Given the description of an element on the screen output the (x, y) to click on. 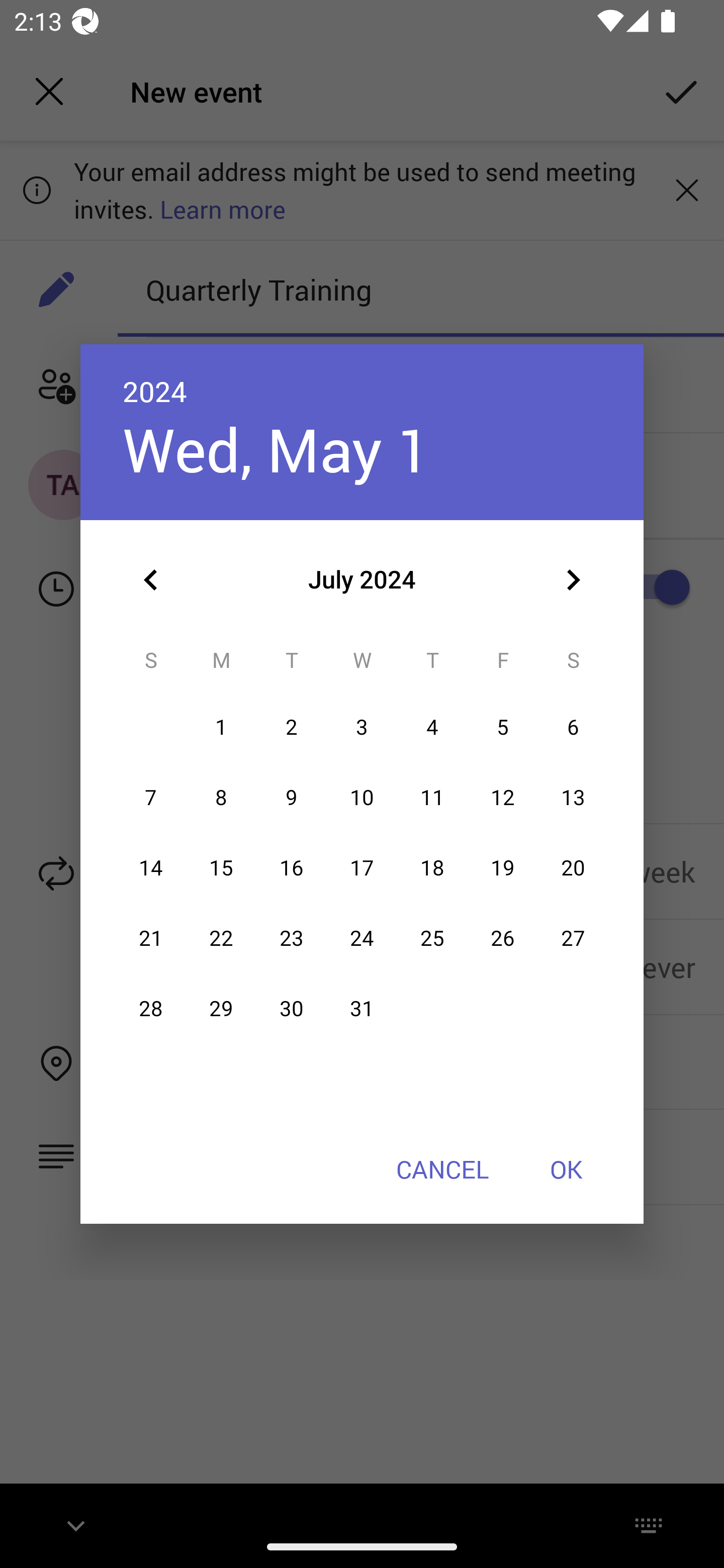
2024 (154, 391)
Wed, May 1 (276, 449)
Previous month (150, 579)
Next month (572, 579)
1 01 July 2024 (221, 728)
2 02 July 2024 (291, 728)
3 03 July 2024 (361, 728)
4 04 July 2024 (432, 728)
5 05 July 2024 (502, 728)
6 06 July 2024 (572, 728)
7 07 July 2024 (150, 797)
8 08 July 2024 (221, 797)
9 09 July 2024 (291, 797)
10 10 July 2024 (361, 797)
11 11 July 2024 (432, 797)
12 12 July 2024 (502, 797)
13 13 July 2024 (572, 797)
14 14 July 2024 (150, 867)
15 15 July 2024 (221, 867)
16 16 July 2024 (291, 867)
17 17 July 2024 (361, 867)
18 18 July 2024 (432, 867)
19 19 July 2024 (502, 867)
20 20 July 2024 (572, 867)
21 21 July 2024 (150, 938)
22 22 July 2024 (221, 938)
23 23 July 2024 (291, 938)
24 24 July 2024 (361, 938)
25 25 July 2024 (432, 938)
26 26 July 2024 (502, 938)
27 27 July 2024 (572, 938)
28 28 July 2024 (150, 1008)
29 29 July 2024 (221, 1008)
30 30 July 2024 (291, 1008)
31 31 July 2024 (361, 1008)
CANCEL (442, 1168)
OK (565, 1168)
